Given the description of an element on the screen output the (x, y) to click on. 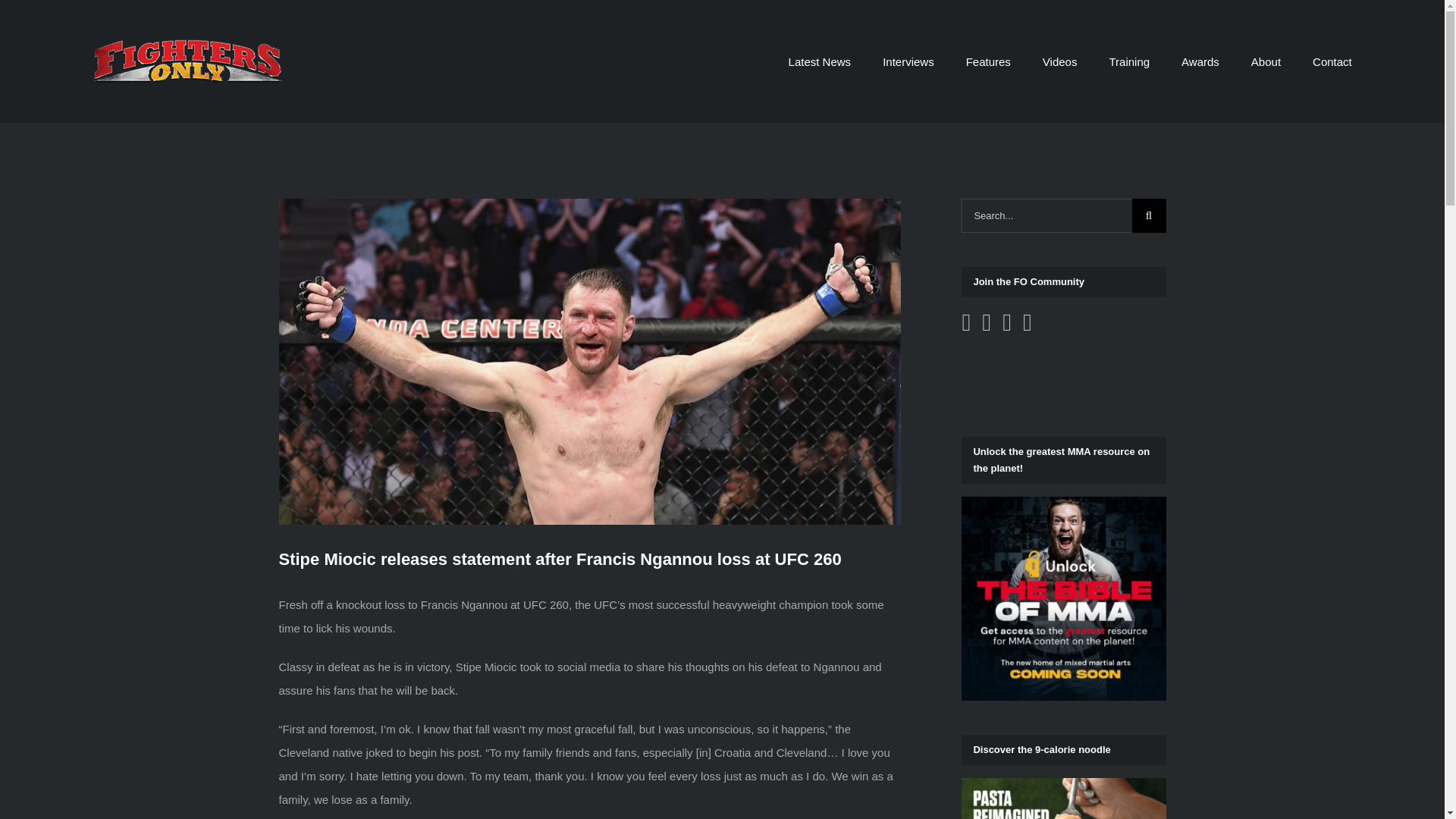
Latest News (820, 61)
Interviews (908, 61)
